Given the description of an element on the screen output the (x, y) to click on. 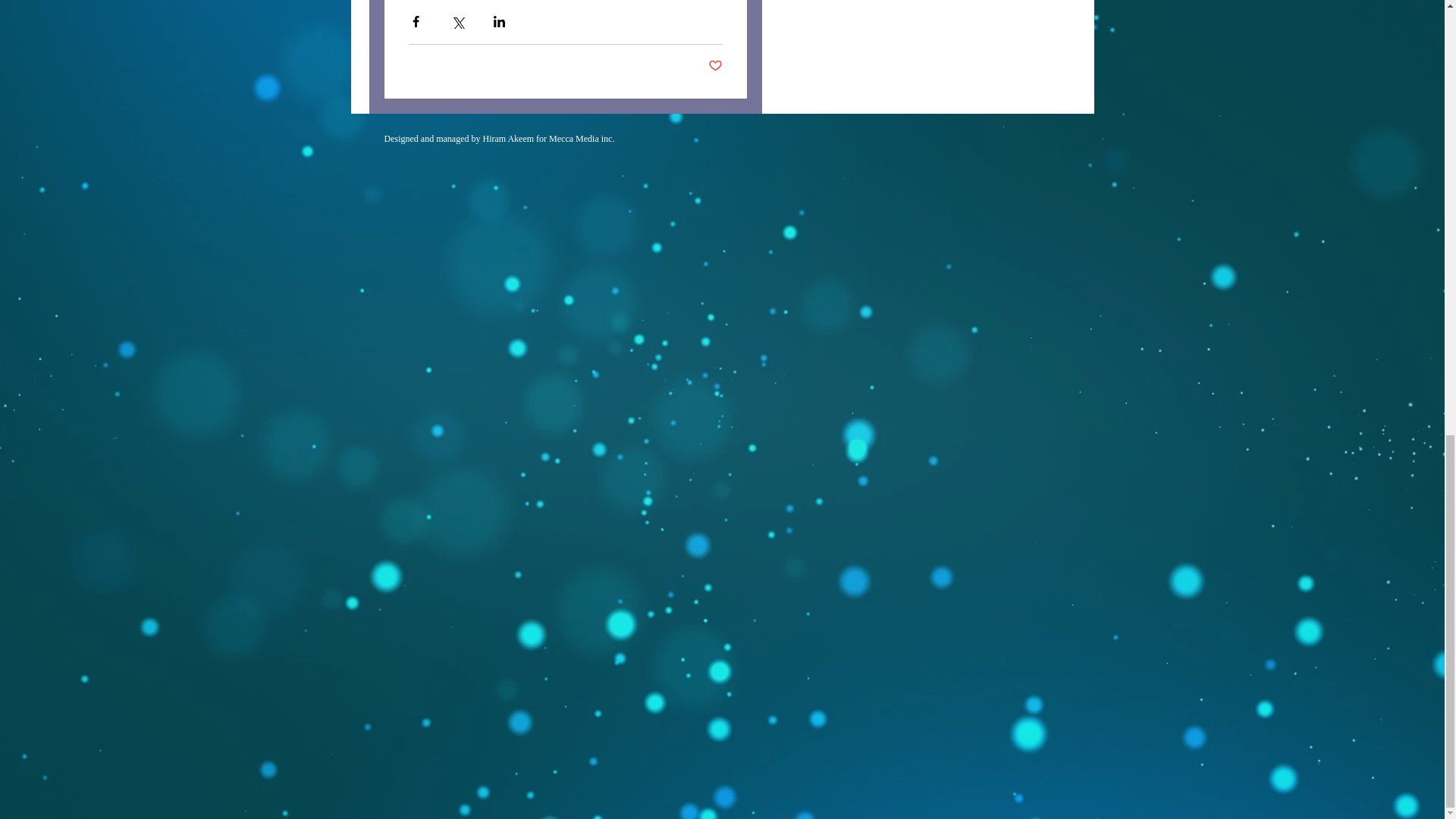
Post not marked as liked (714, 66)
